Given the description of an element on the screen output the (x, y) to click on. 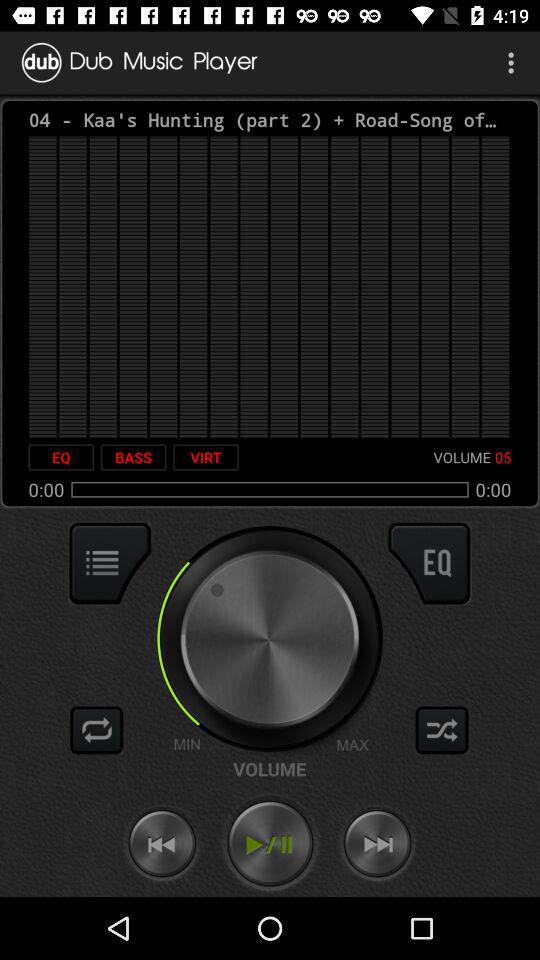
click on the forward button which is at bottom right of the page (377, 844)
click on the button which is left side of the pause or play button (161, 844)
click on play and pause button which is below volume (270, 844)
the entity shown above volume at the bottom of the page (269, 639)
click on the shuffle button at the bottom right corner of the page (442, 730)
